Given the description of an element on the screen output the (x, y) to click on. 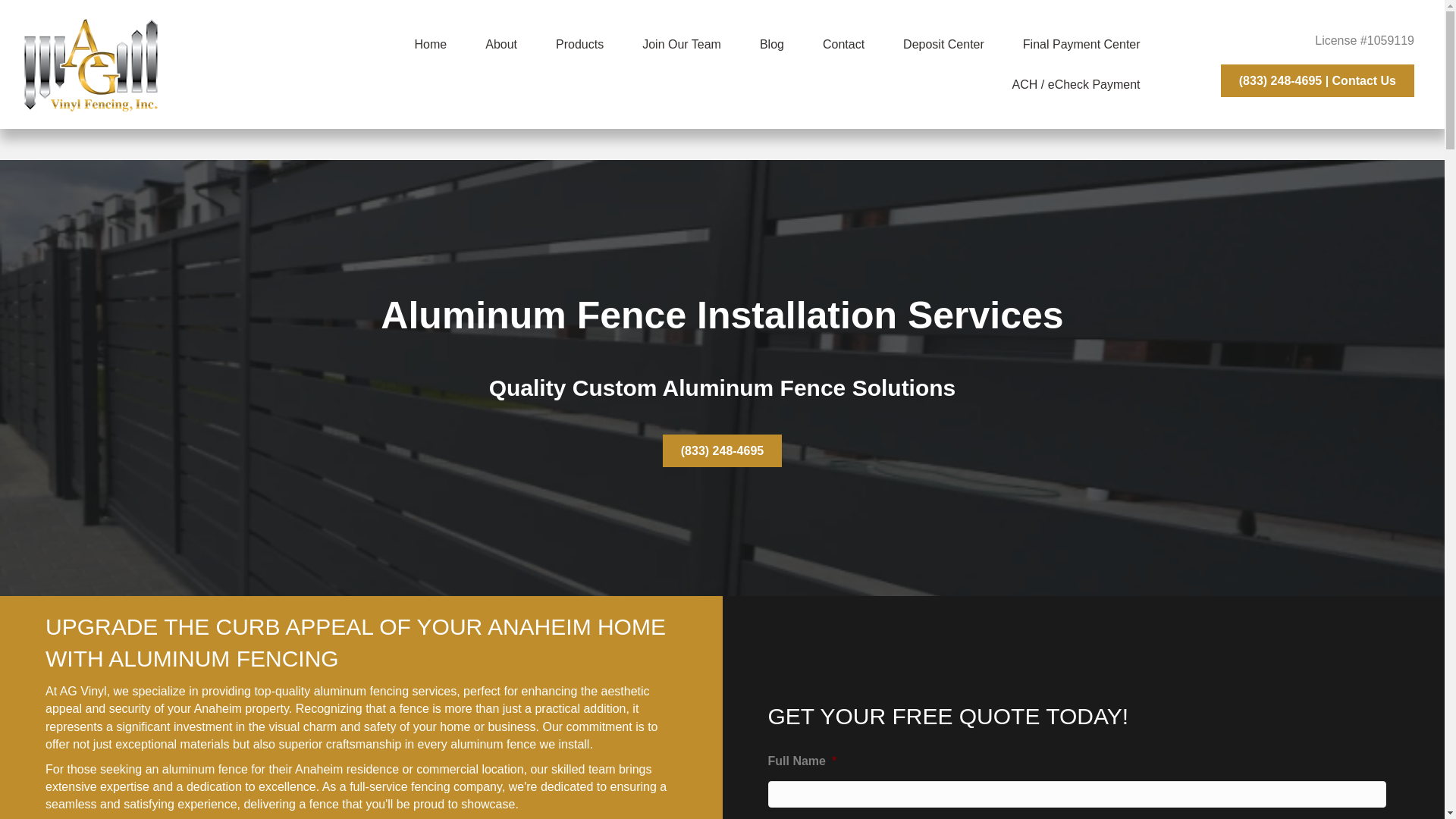
Deposit Center (943, 44)
Join Our Team (681, 44)
Final Payment Center (1081, 44)
Products (580, 44)
Contact (843, 44)
Home (430, 44)
About (500, 44)
Blog (772, 44)
AG Vinyl Fencing Logo SIZED (90, 64)
